Given the description of an element on the screen output the (x, y) to click on. 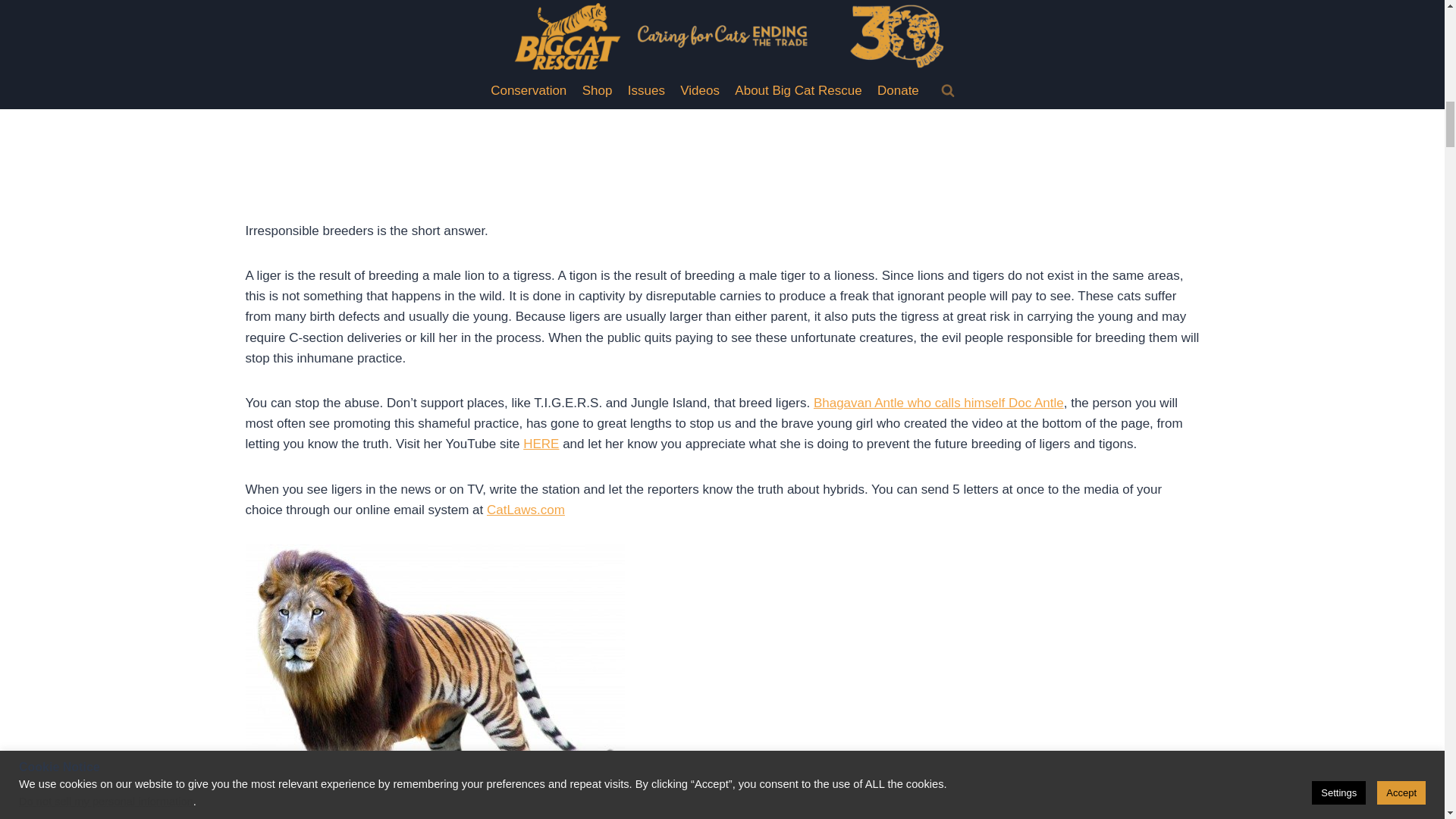
HERE (540, 443)
CatLaws.com (525, 509)
LIGERS - They do exist! (519, 95)
Bhagavan Antle who calls himself Doc Antle (938, 402)
